Given the description of an element on the screen output the (x, y) to click on. 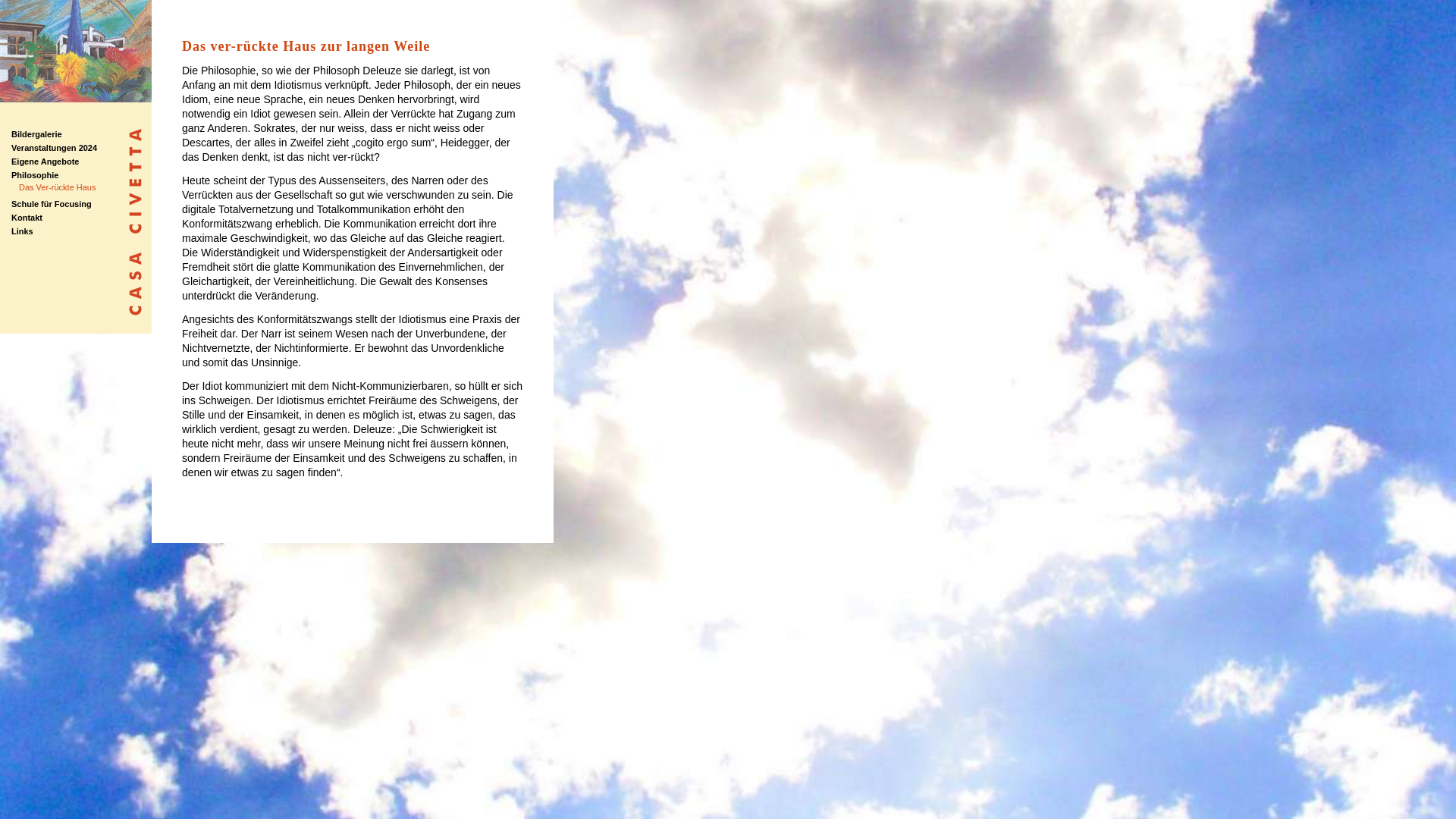
Veranstaltungen 2024 Element type: text (54, 147)
WebYep Anmeldung Element type: hover (1438, 19)
Links Element type: text (22, 230)
Philosophie Element type: text (34, 174)
Eigene Angebote Element type: text (44, 161)
Kontakt Element type: text (26, 217)
home Element type: hover (75, 98)
Bildergalerie Element type: text (36, 133)
